Given the description of an element on the screen output the (x, y) to click on. 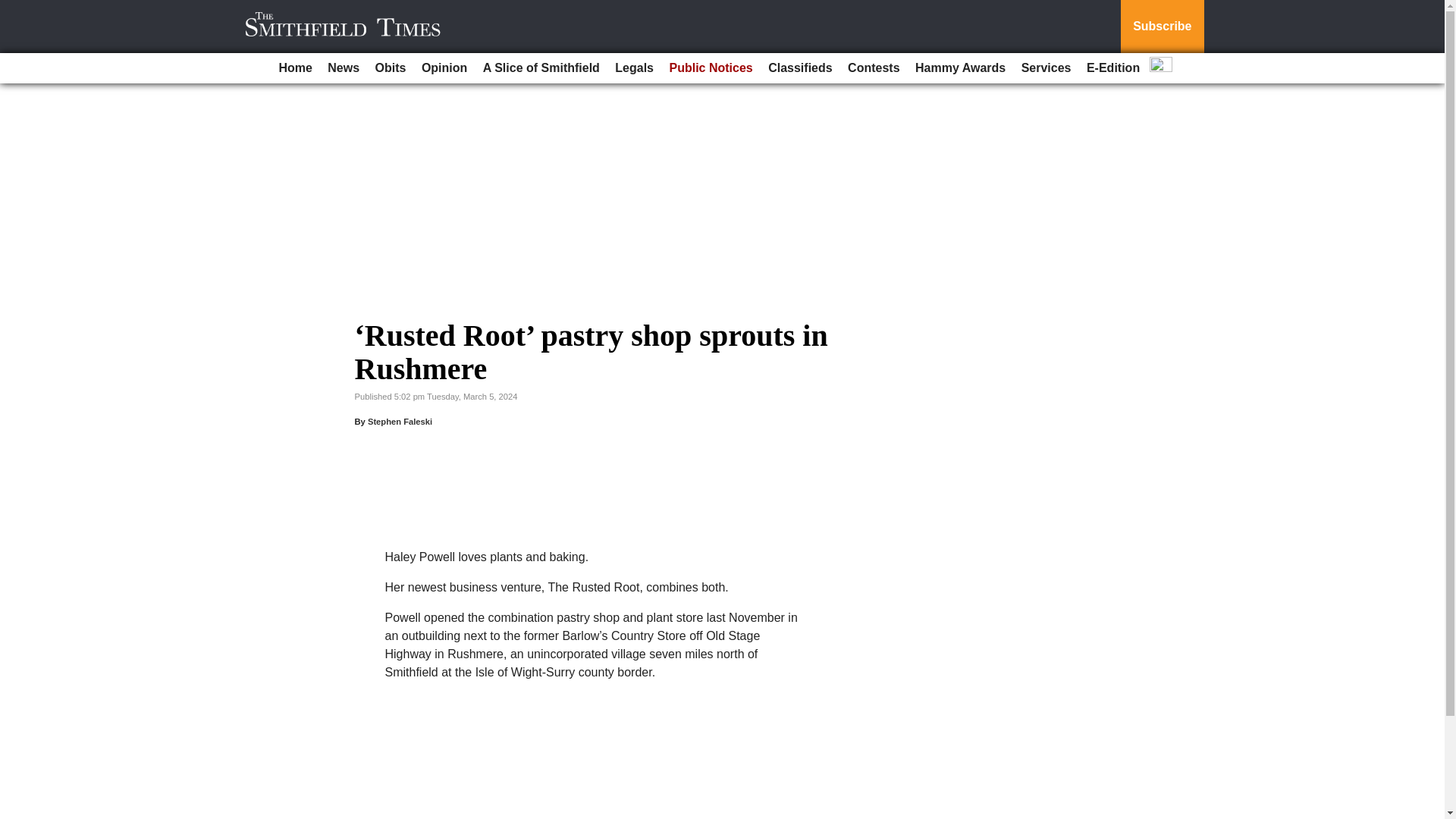
Go (13, 9)
Contests (873, 68)
Hammy Awards (959, 68)
Legals (633, 68)
Classifieds (799, 68)
Subscribe (1162, 26)
Services (1045, 68)
Obits (390, 68)
Public Notices (710, 68)
A Slice of Smithfield (541, 68)
Home (294, 68)
Opinion (443, 68)
Stephen Faleski (400, 420)
News (343, 68)
E-Edition (1112, 68)
